Given the description of an element on the screen output the (x, y) to click on. 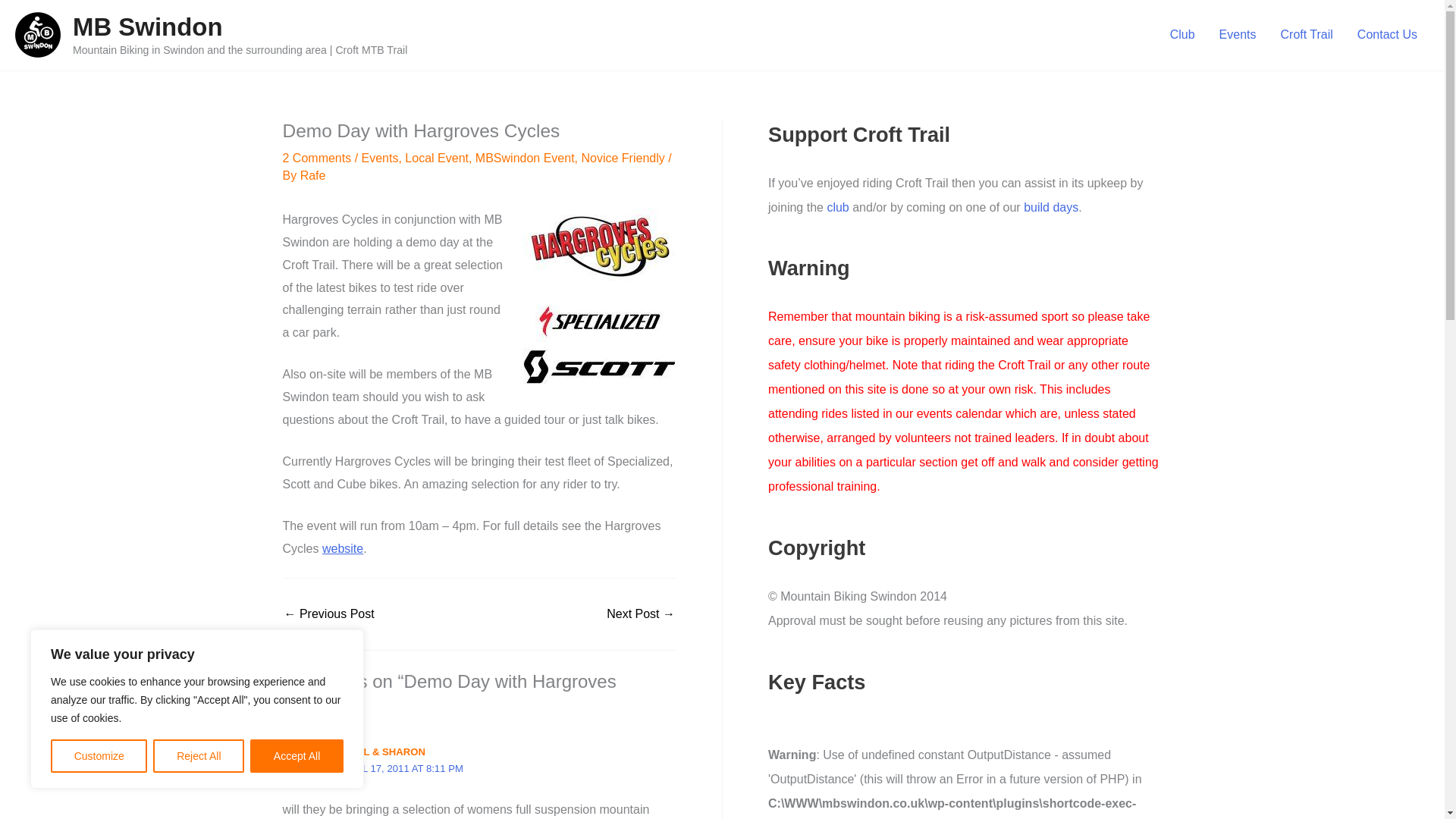
Reject All (198, 756)
MB Swindon (147, 26)
Croft Trail (1306, 34)
Events (1237, 34)
Accept All (296, 756)
Bristol trails group ride report on Croft Trail (641, 613)
View all posts by Rafe (312, 174)
Customize (98, 756)
Contact Us (1387, 34)
Sunday - Demo day at the trail (328, 613)
